Given the description of an element on the screen output the (x, y) to click on. 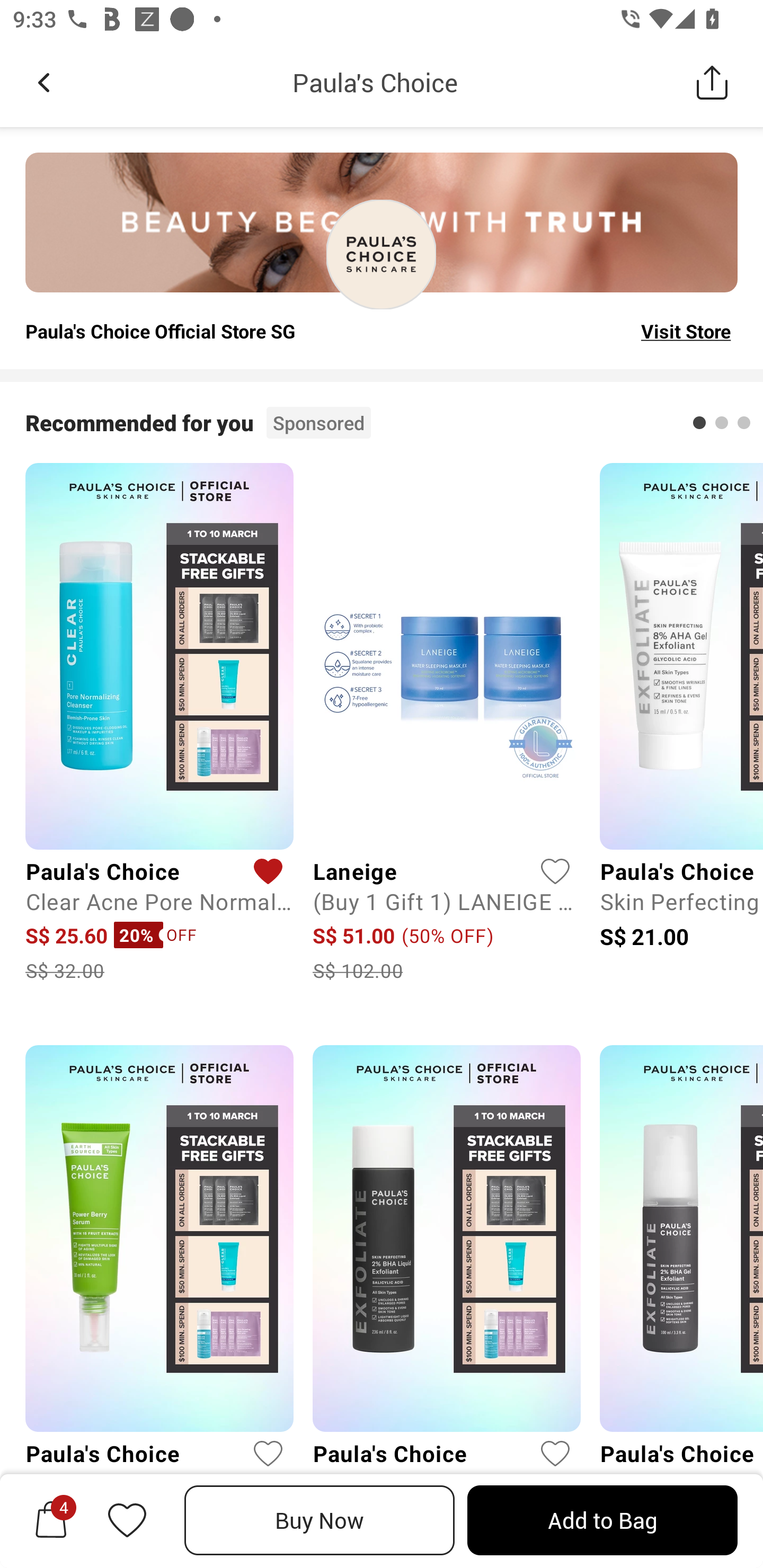
Paula's Choice (375, 82)
Share this Product (711, 82)
content description (381, 253)
Paula's Choice Official Store SG (160, 330)
Visit Store (685, 330)
Buy Now (319, 1519)
Add to Bag (601, 1519)
4 (50, 1520)
